Given the description of an element on the screen output the (x, y) to click on. 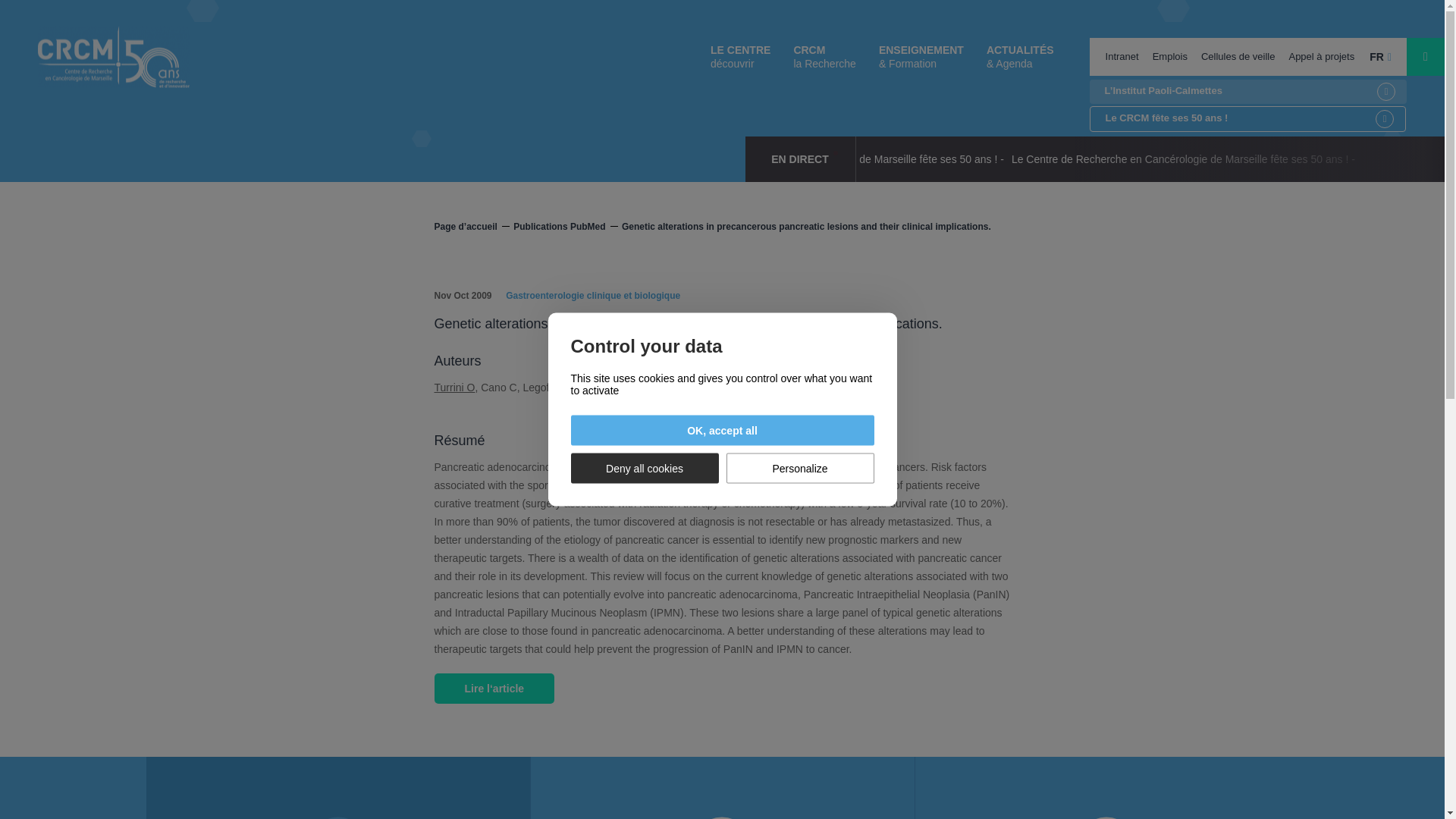
Publications PubMed (565, 226)
Turrini O (453, 387)
Langue du site (1380, 56)
FR (1380, 56)
Cellules de veille (1237, 56)
Emplois (1169, 56)
Intranet (1122, 56)
Iovanna J (713, 387)
